Given the description of an element on the screen output the (x, y) to click on. 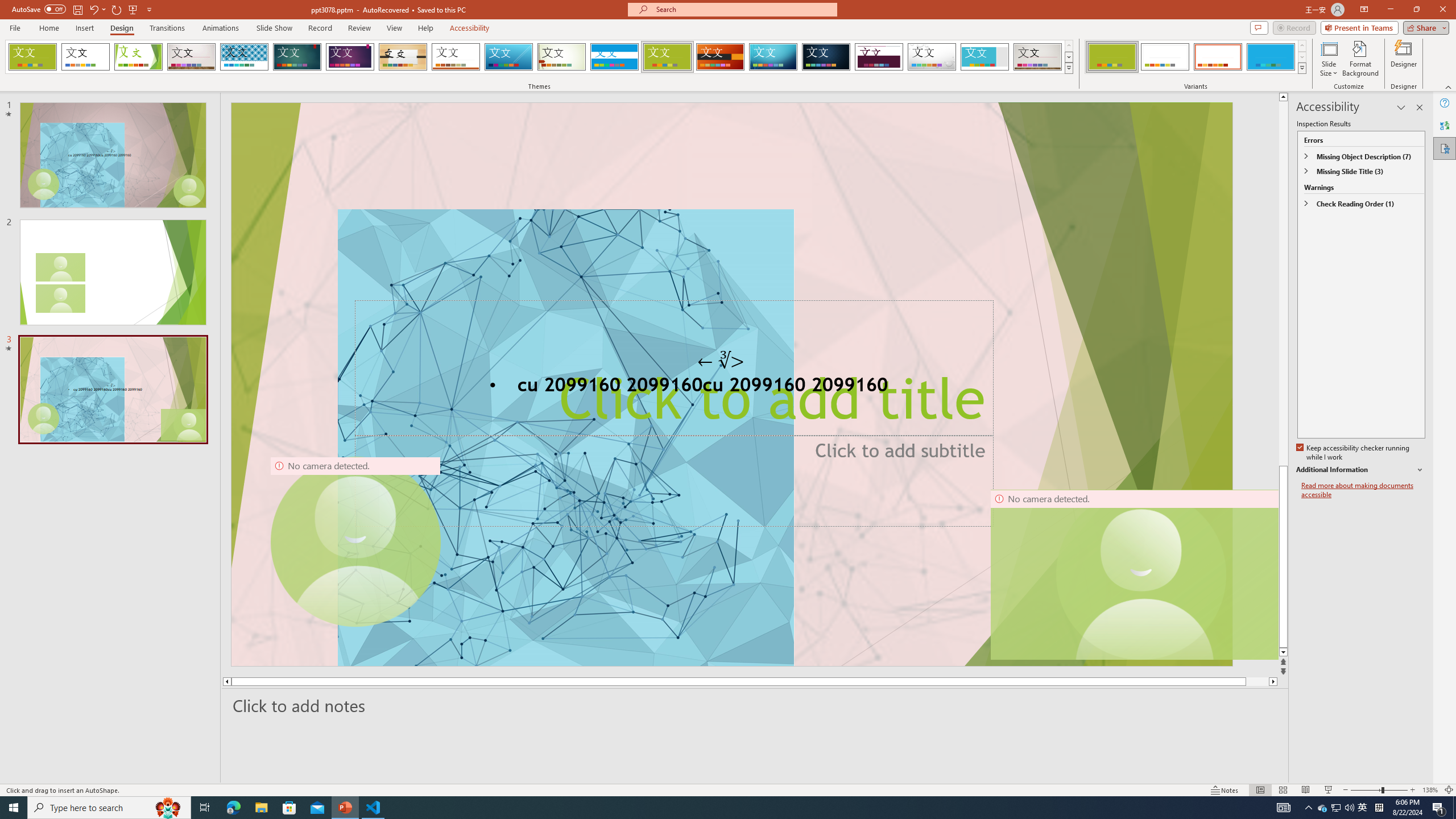
Slide Size (1328, 58)
Circuit (772, 56)
Additional Information (1360, 469)
Slice (508, 56)
TextBox 61 (730, 386)
Wisp (561, 56)
